Given the description of an element on the screen output the (x, y) to click on. 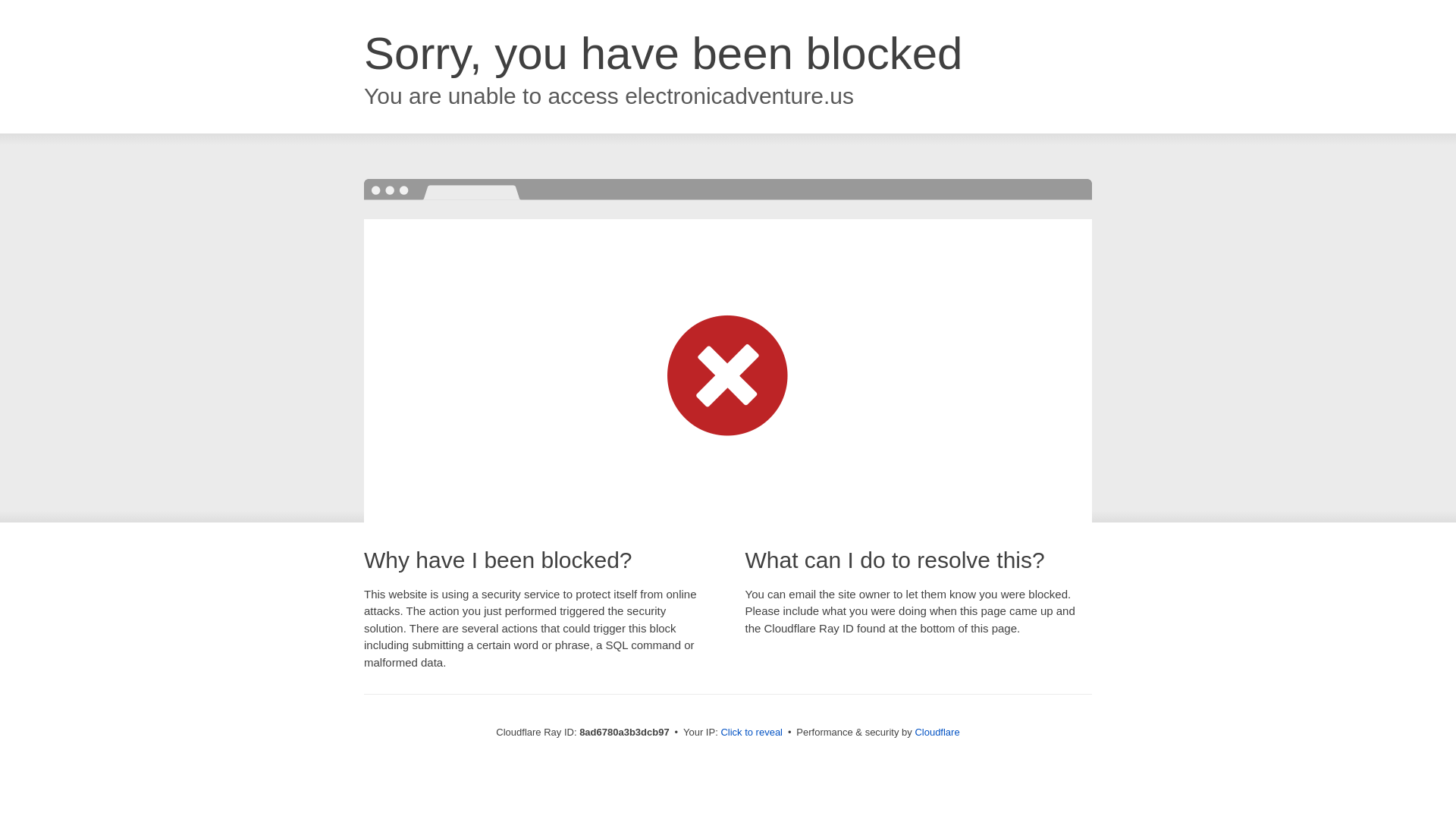
Cloudflare (936, 731)
Click to reveal (751, 732)
